Given the description of an element on the screen output the (x, y) to click on. 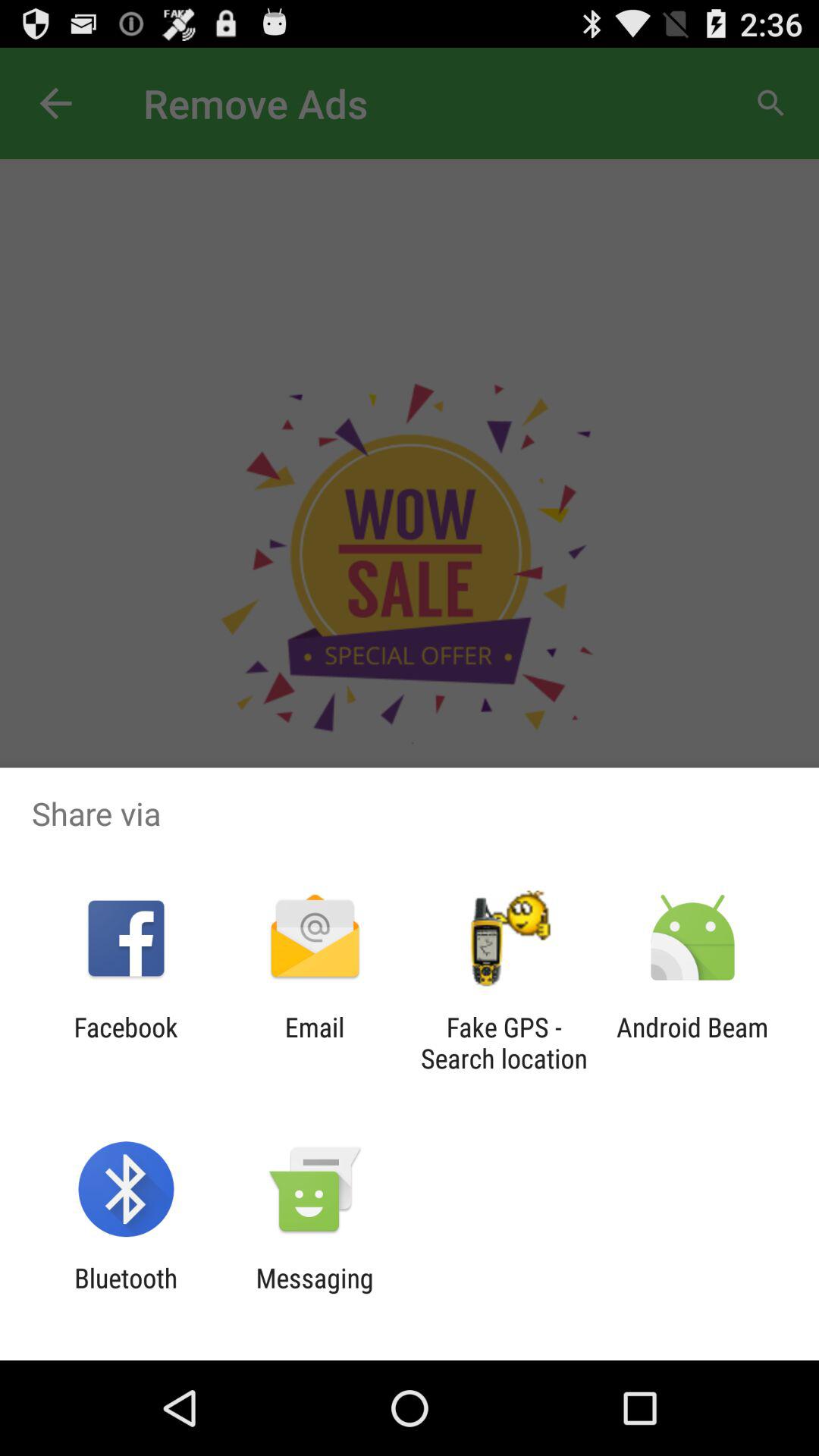
tap the item next to email icon (125, 1042)
